Given the description of an element on the screen output the (x, y) to click on. 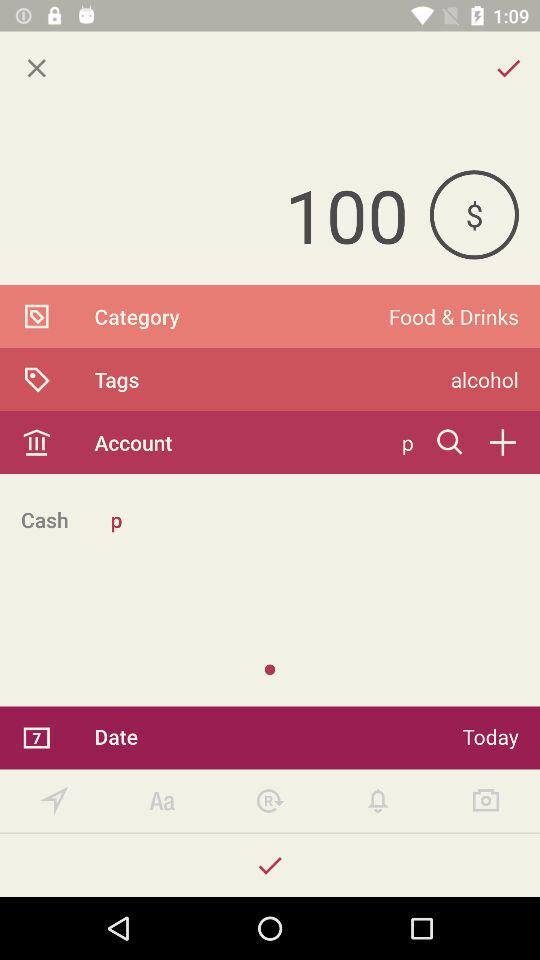
search account (450, 442)
